Given the description of an element on the screen output the (x, y) to click on. 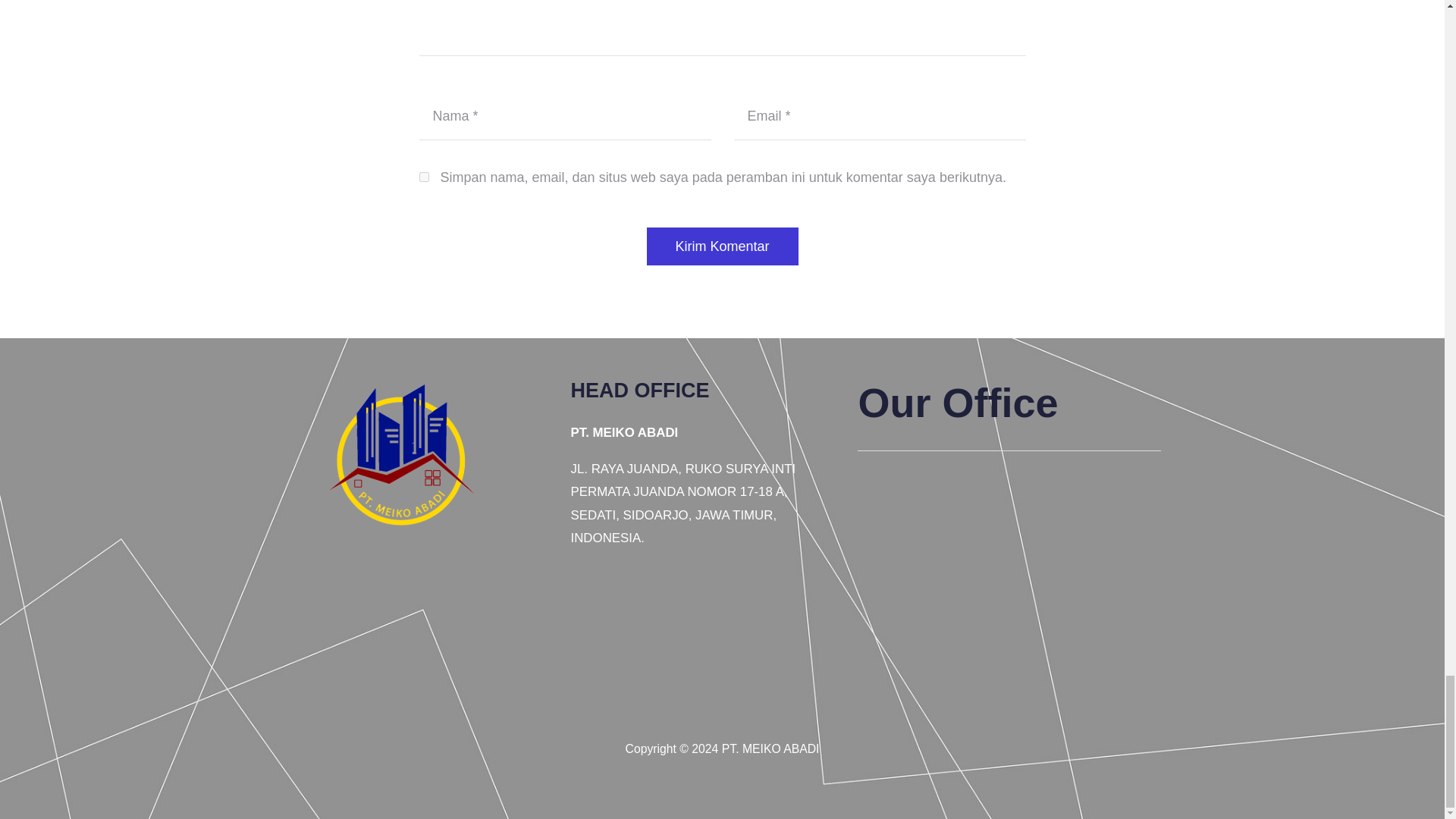
yes (423, 176)
Kirim Komentar (721, 246)
